Given the description of an element on the screen output the (x, y) to click on. 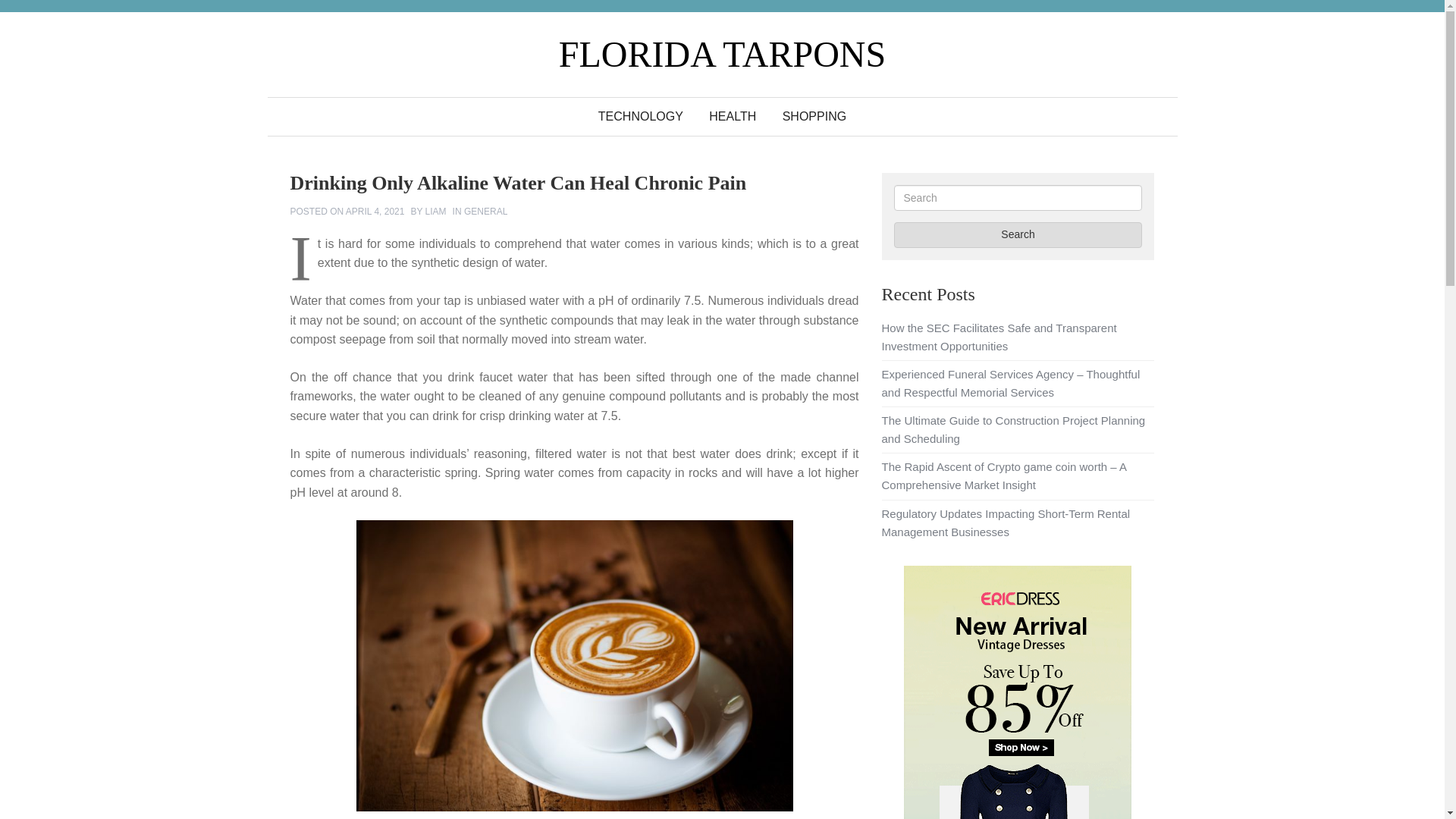
TECHNOLOGY (640, 116)
LIAM (435, 211)
SHOPPING (814, 116)
FLORIDA TARPONS (722, 54)
APRIL 4, 2021 (375, 211)
Search (1017, 234)
GENERAL (485, 211)
HEALTH (732, 116)
